Given the description of an element on the screen output the (x, y) to click on. 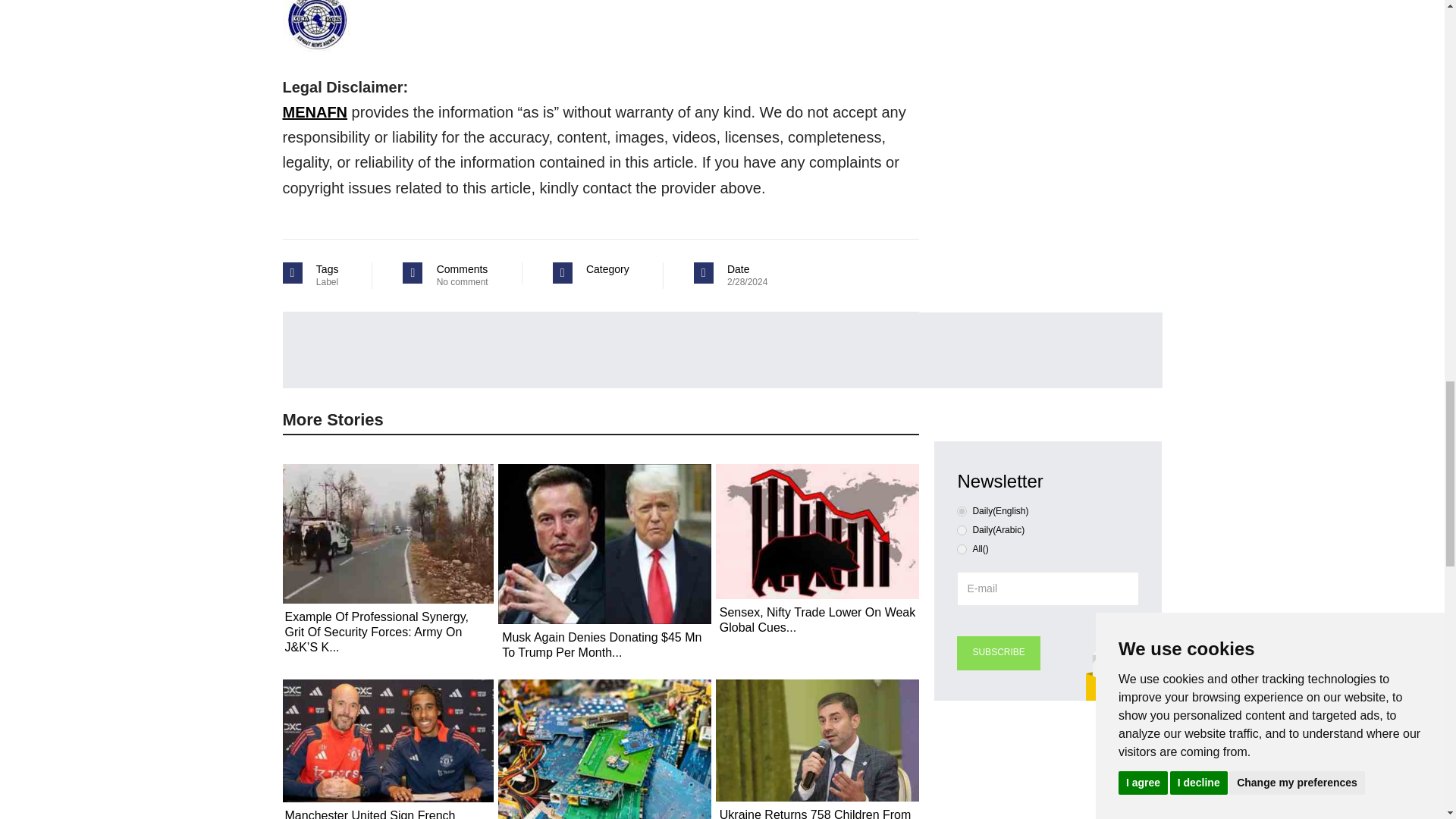
0 (961, 511)
1 (961, 530)
Subscribe (997, 653)
2 (961, 549)
